Given the description of an element on the screen output the (x, y) to click on. 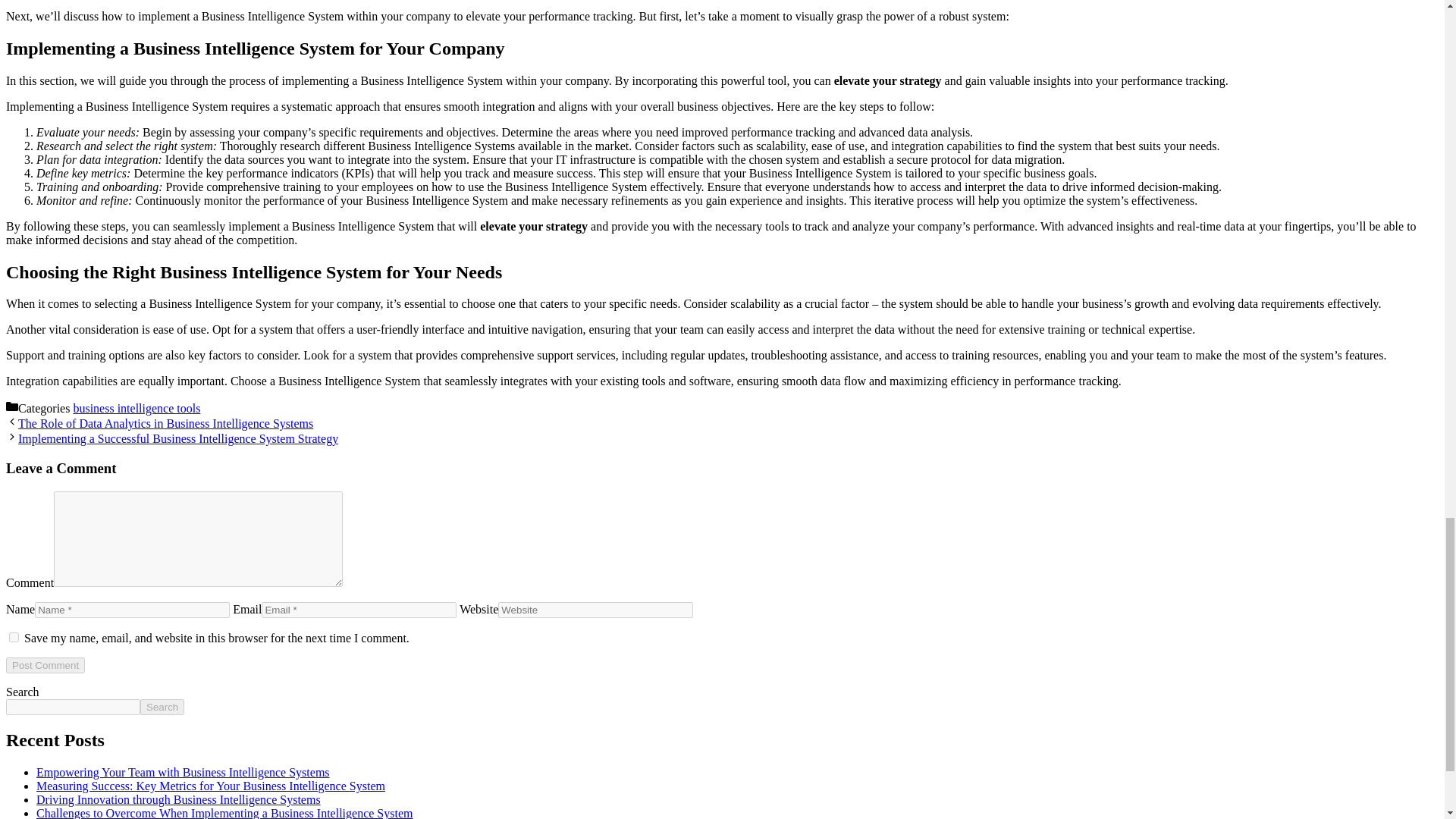
Driving Innovation through Business Intelligence Systems (178, 799)
yes (13, 637)
Search (161, 706)
business intelligence tools (136, 408)
The Role of Data Analytics in Business Intelligence Systems (165, 422)
Empowering Your Team with Business Intelligence Systems (183, 771)
Post Comment (44, 665)
Post Comment (44, 665)
